Given the description of an element on the screen output the (x, y) to click on. 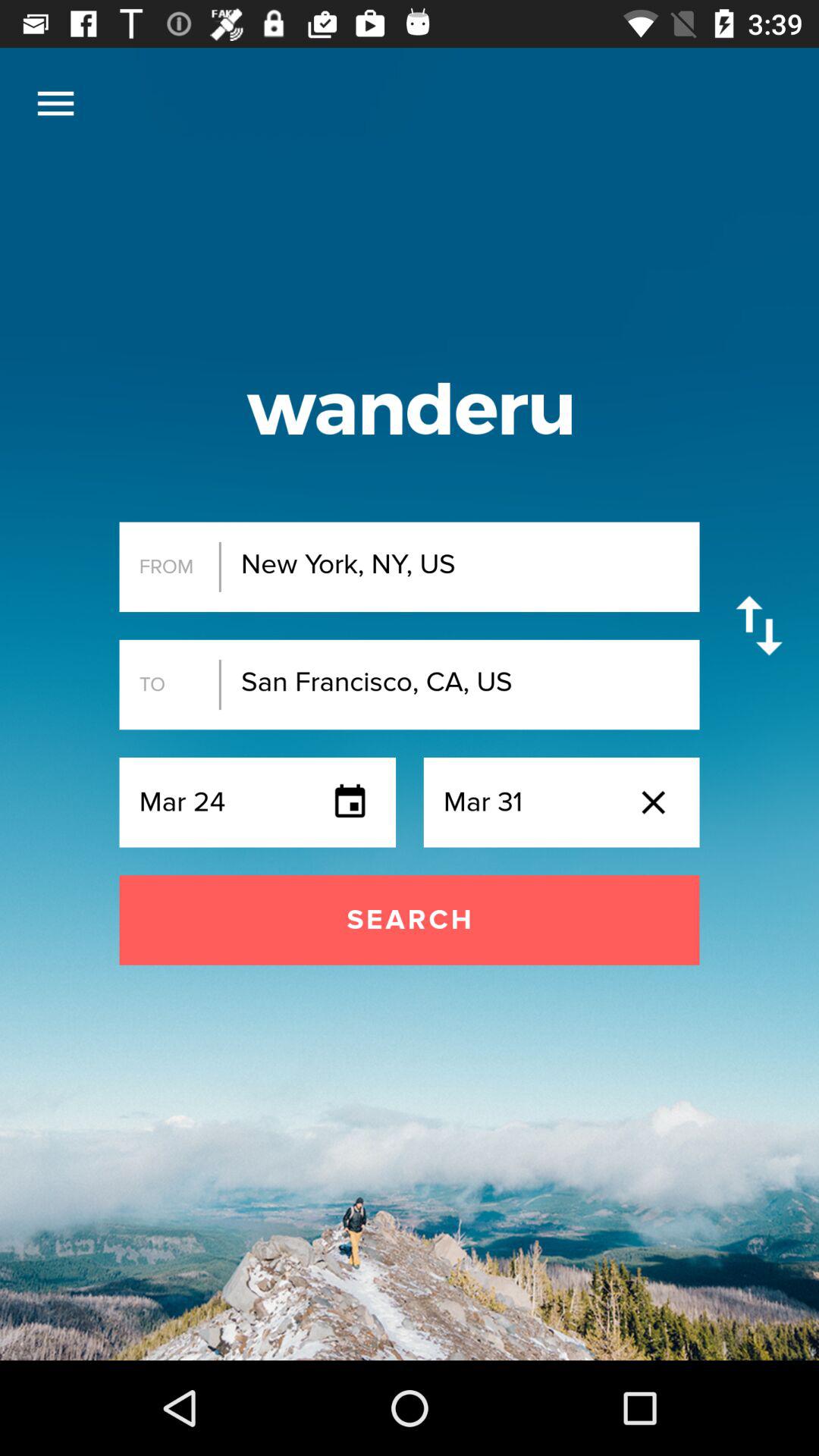
open search (409, 920)
